Given the description of an element on the screen output the (x, y) to click on. 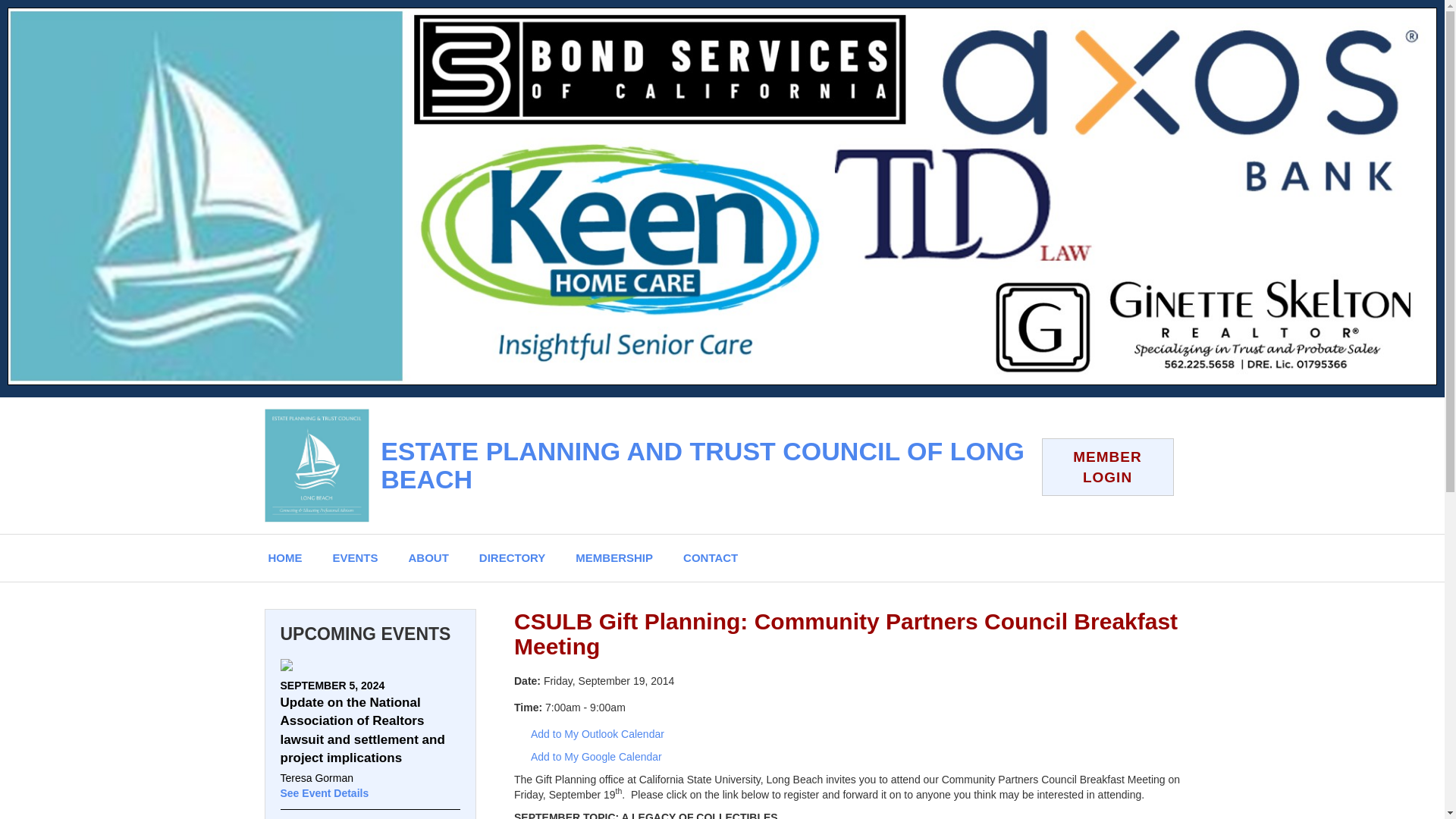
EVENTS (355, 557)
ESTATE PLANNING AND TRUST COUNCIL OF LONG BEACH (702, 464)
MEMBER LOGIN (1107, 467)
HOME (285, 557)
ABOUT (428, 557)
